Given the description of an element on the screen output the (x, y) to click on. 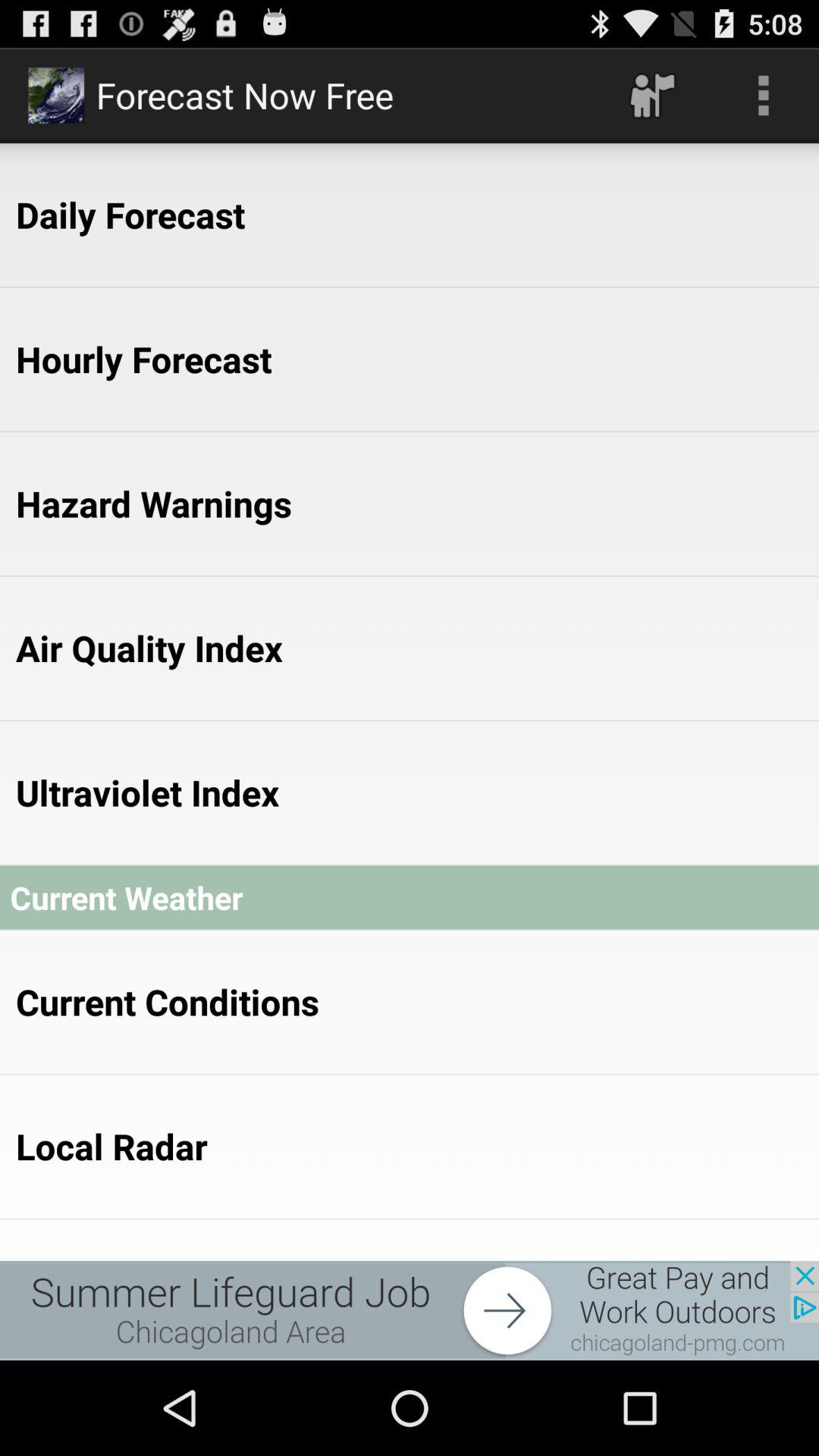
check the advertisement (409, 1310)
